Given the description of an element on the screen output the (x, y) to click on. 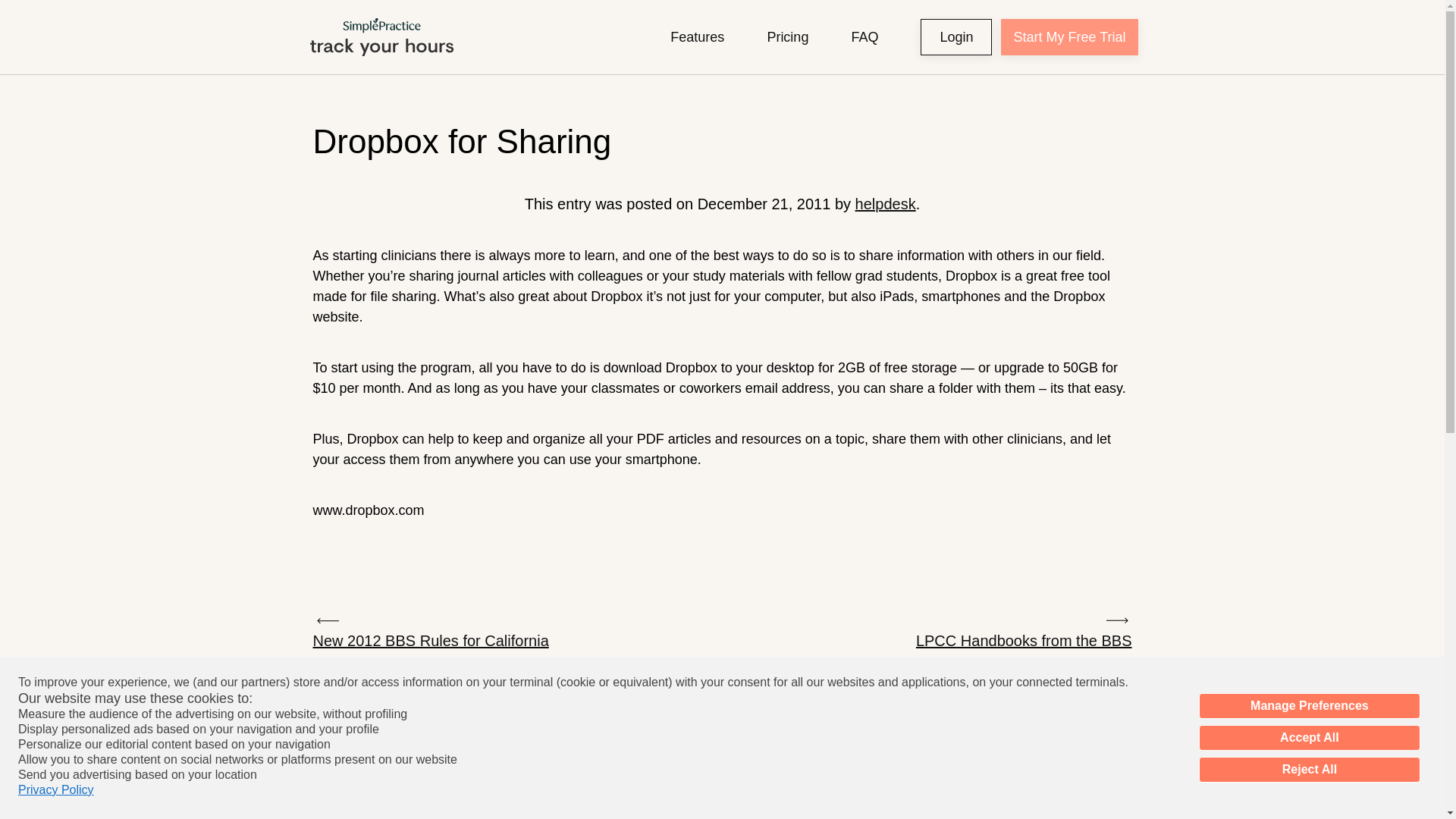
helpdesk (885, 203)
Privacy Policy (55, 789)
Reject All (1309, 769)
Manage Preferences (1309, 705)
Pricing (787, 36)
Start My Free Trial (1069, 36)
Login (955, 36)
Accept All (1309, 737)
New 2012 BBS Rules for California MFT Trainees and Interns (441, 642)
LPCC Handbooks from the BBS (1023, 631)
Features (696, 36)
FAQ (863, 36)
